Given the description of an element on the screen output the (x, y) to click on. 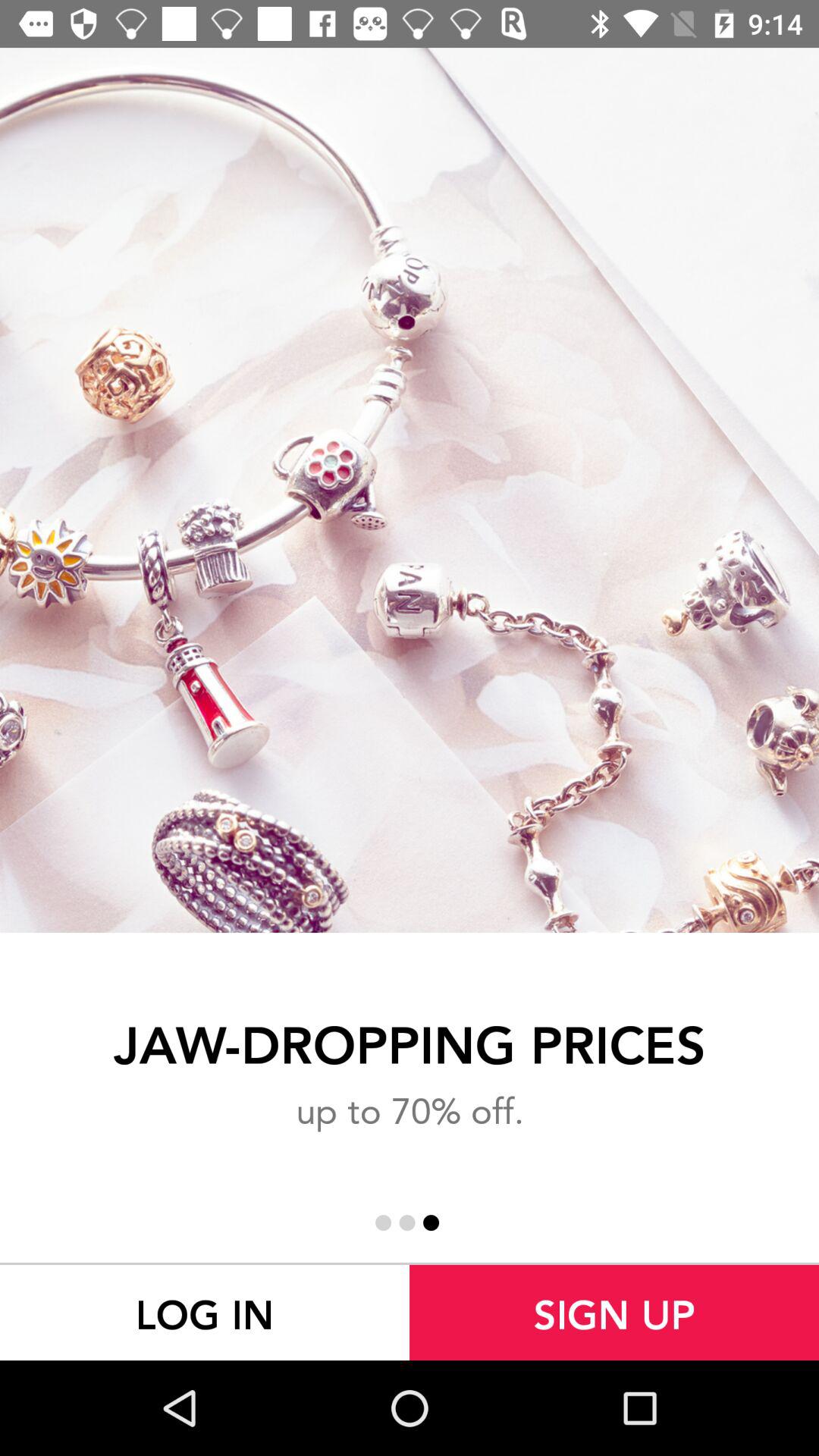
swipe until log in item (204, 1312)
